Given the description of an element on the screen output the (x, y) to click on. 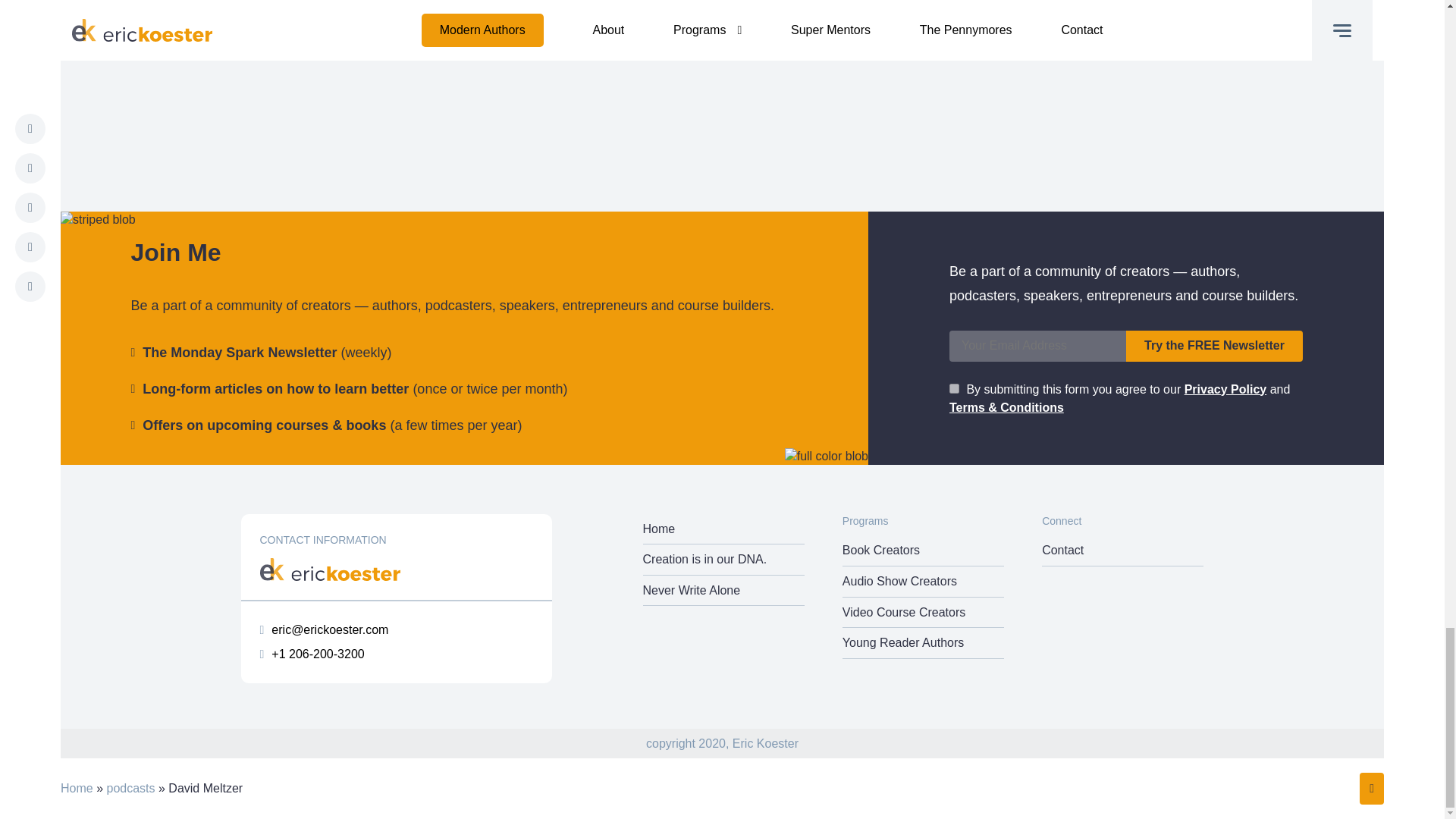
on (954, 388)
